Given the description of an element on the screen output the (x, y) to click on. 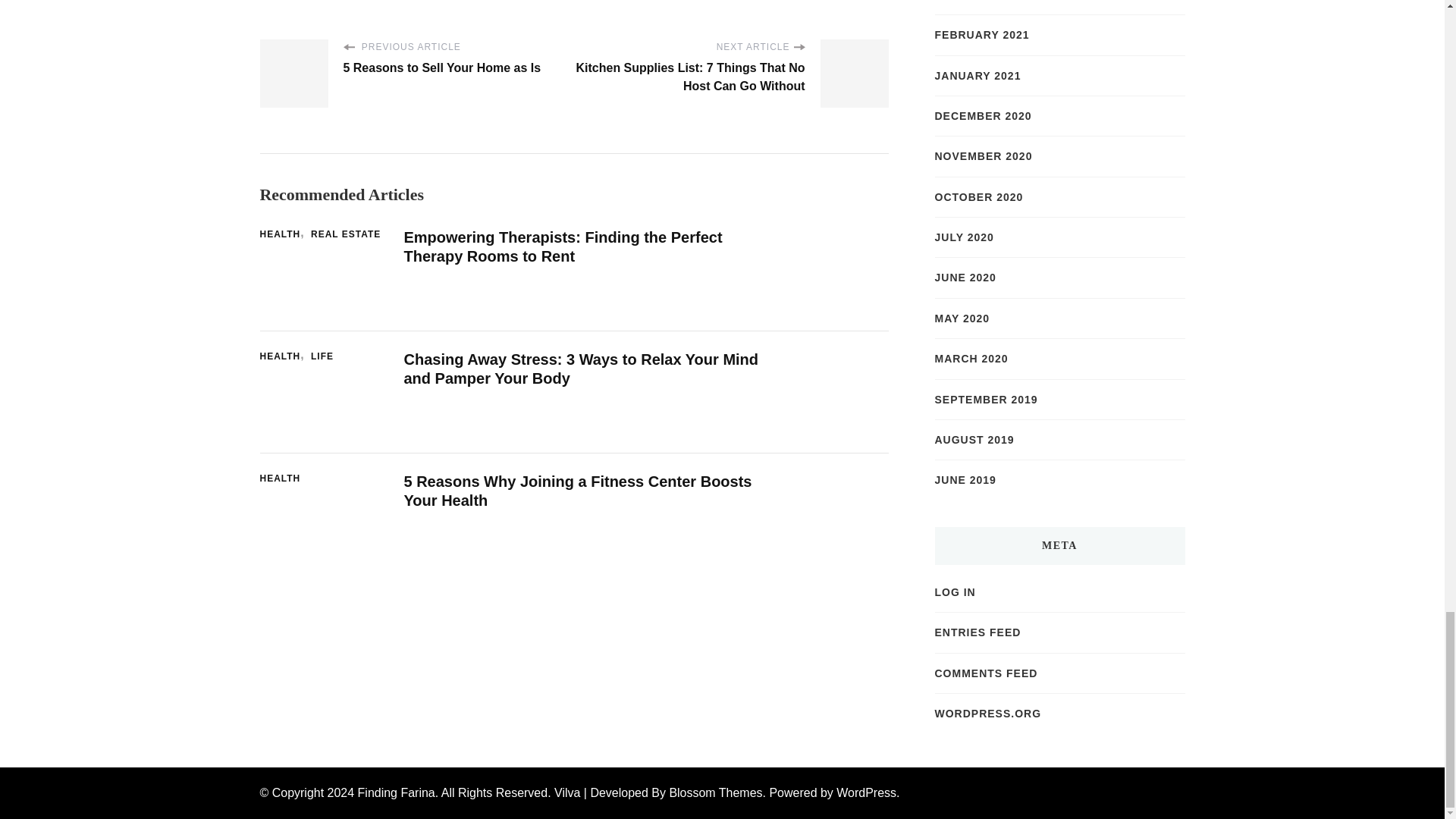
5 Reasons Why Joining a Fitness Center Boosts Your Health (577, 490)
HEALTH (279, 479)
HEALTH (283, 234)
LIFE (322, 356)
REAL ESTATE (345, 234)
HEALTH (283, 356)
